Given the description of an element on the screen output the (x, y) to click on. 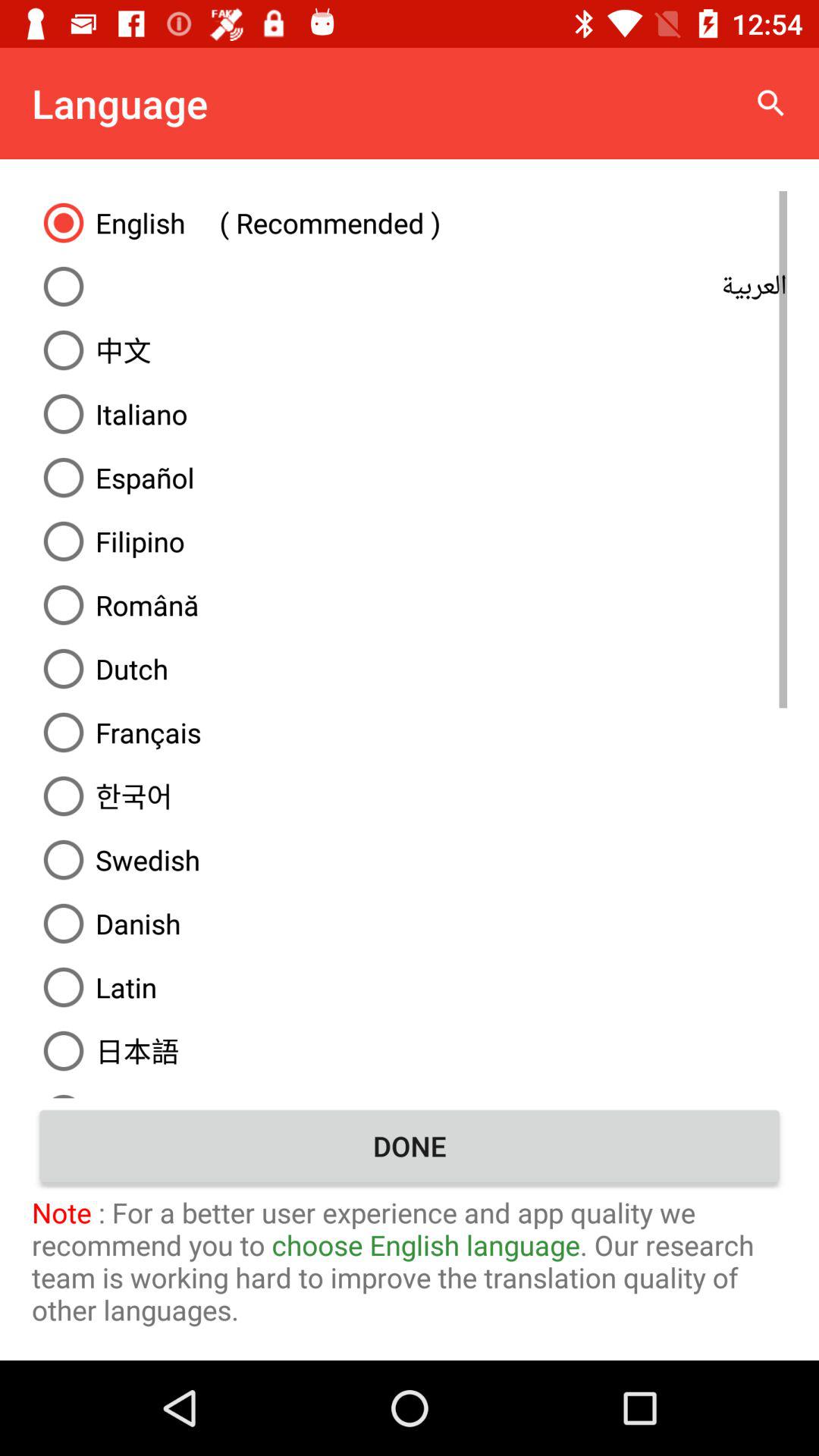
jump until the english     ( recommended ) (409, 222)
